Given the description of an element on the screen output the (x, y) to click on. 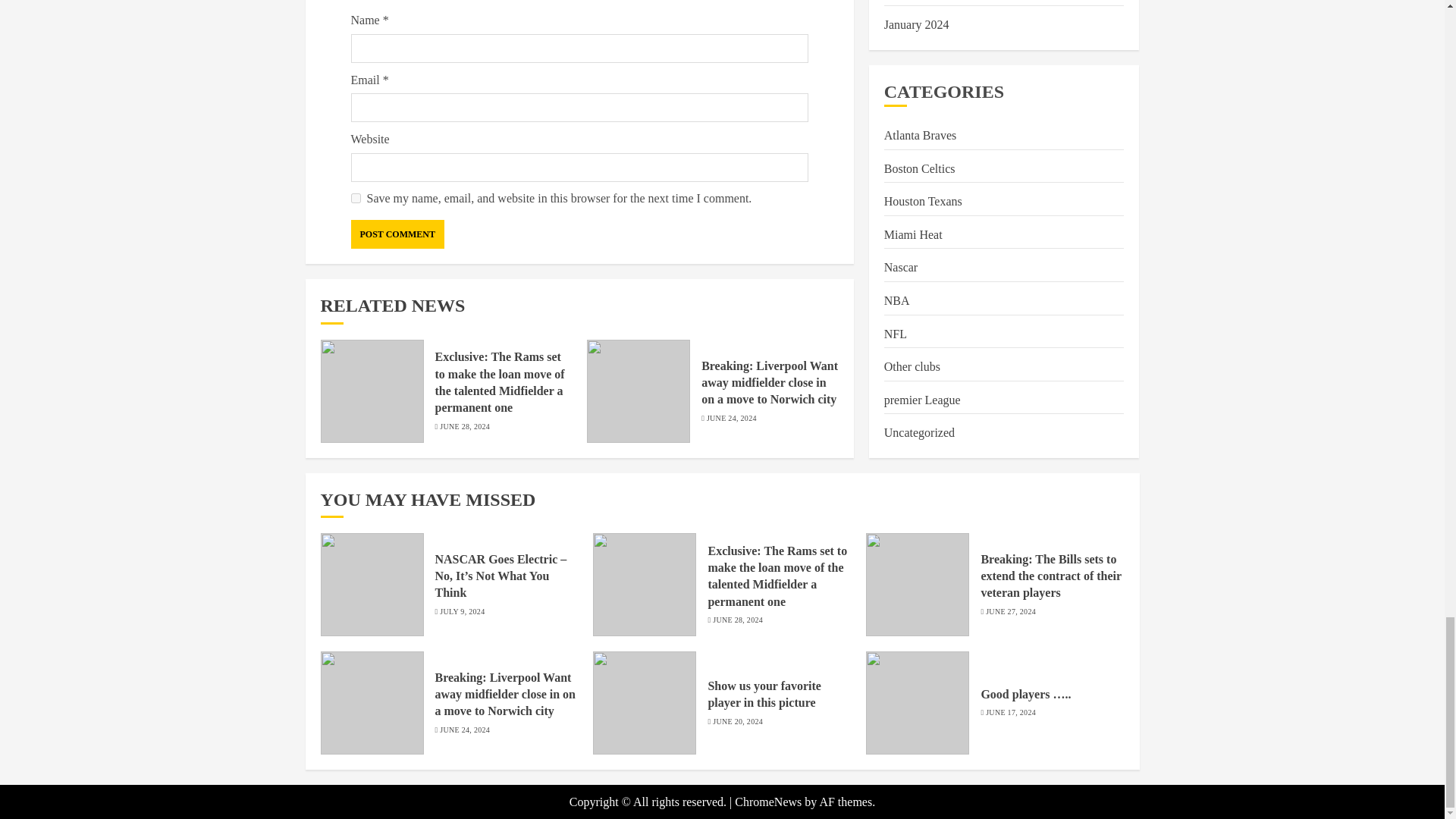
yes (354, 198)
Post Comment (397, 234)
Post Comment (397, 234)
JUNE 28, 2024 (464, 426)
